Given the description of an element on the screen output the (x, y) to click on. 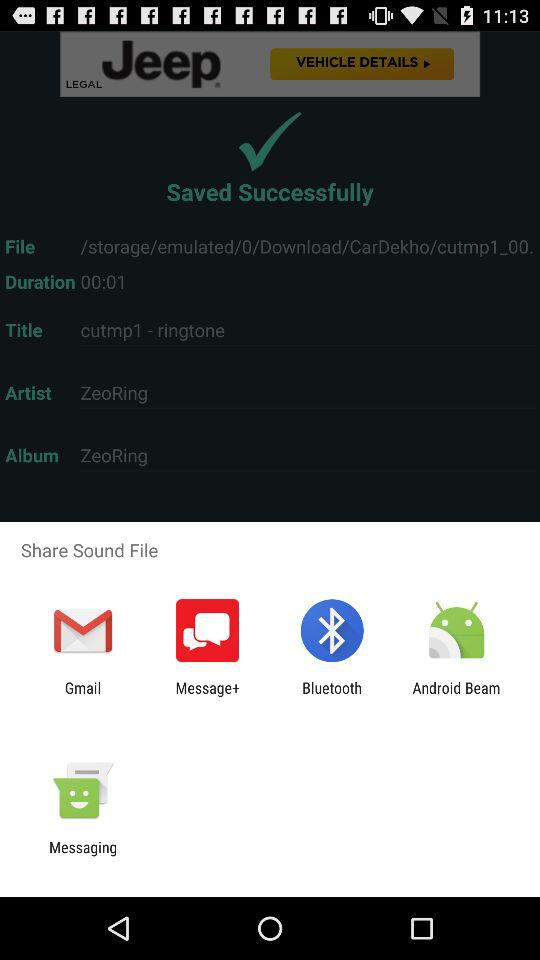
swipe until gmail (82, 696)
